Given the description of an element on the screen output the (x, y) to click on. 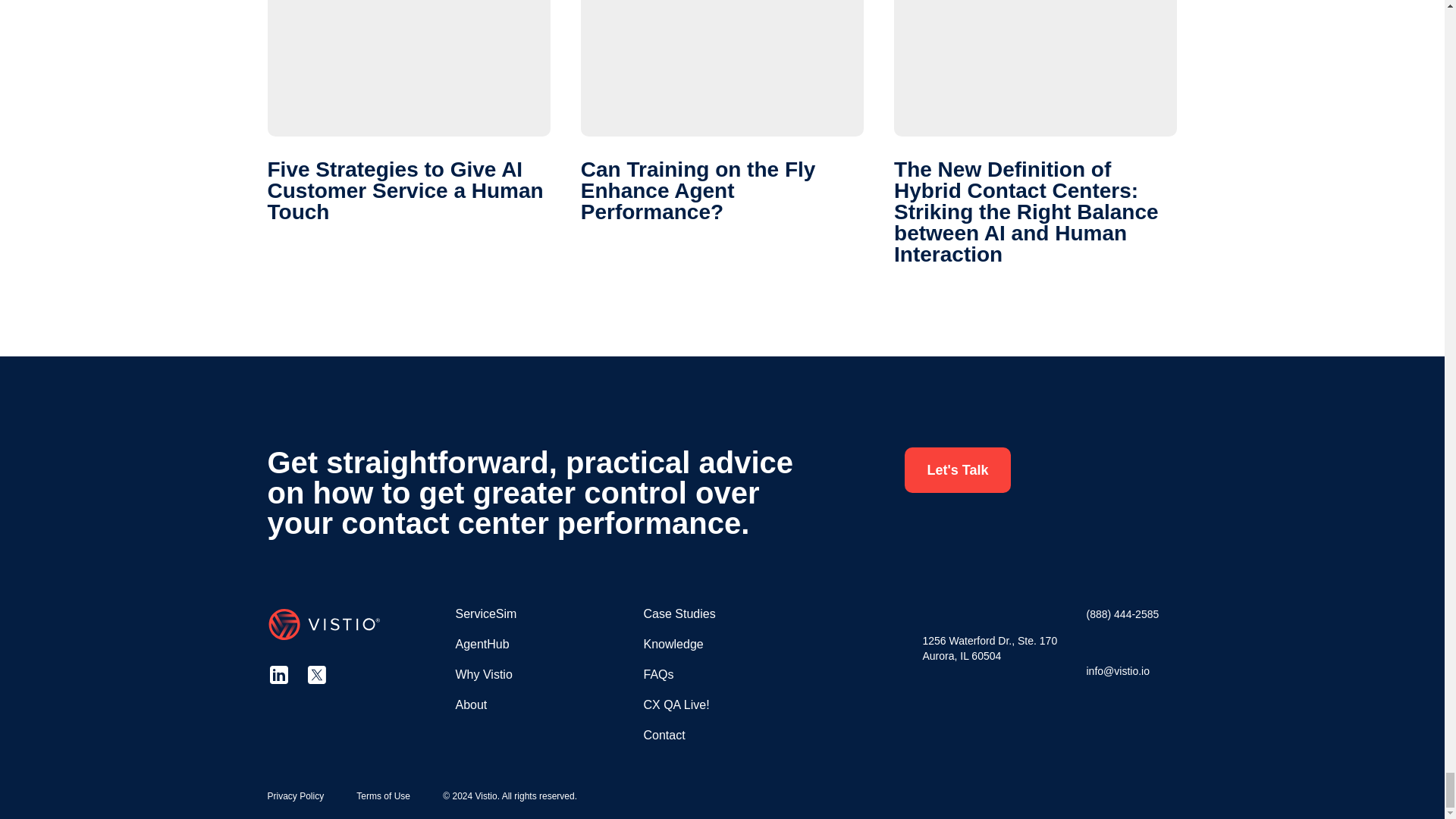
Knowledge (673, 644)
AgentHub (481, 644)
Case Studies (678, 613)
Let's Talk (957, 470)
Read More (721, 111)
Read More (1034, 132)
Read More (408, 111)
About (470, 704)
ServiceSim (485, 613)
FAQs (657, 674)
